Given the description of an element on the screen output the (x, y) to click on. 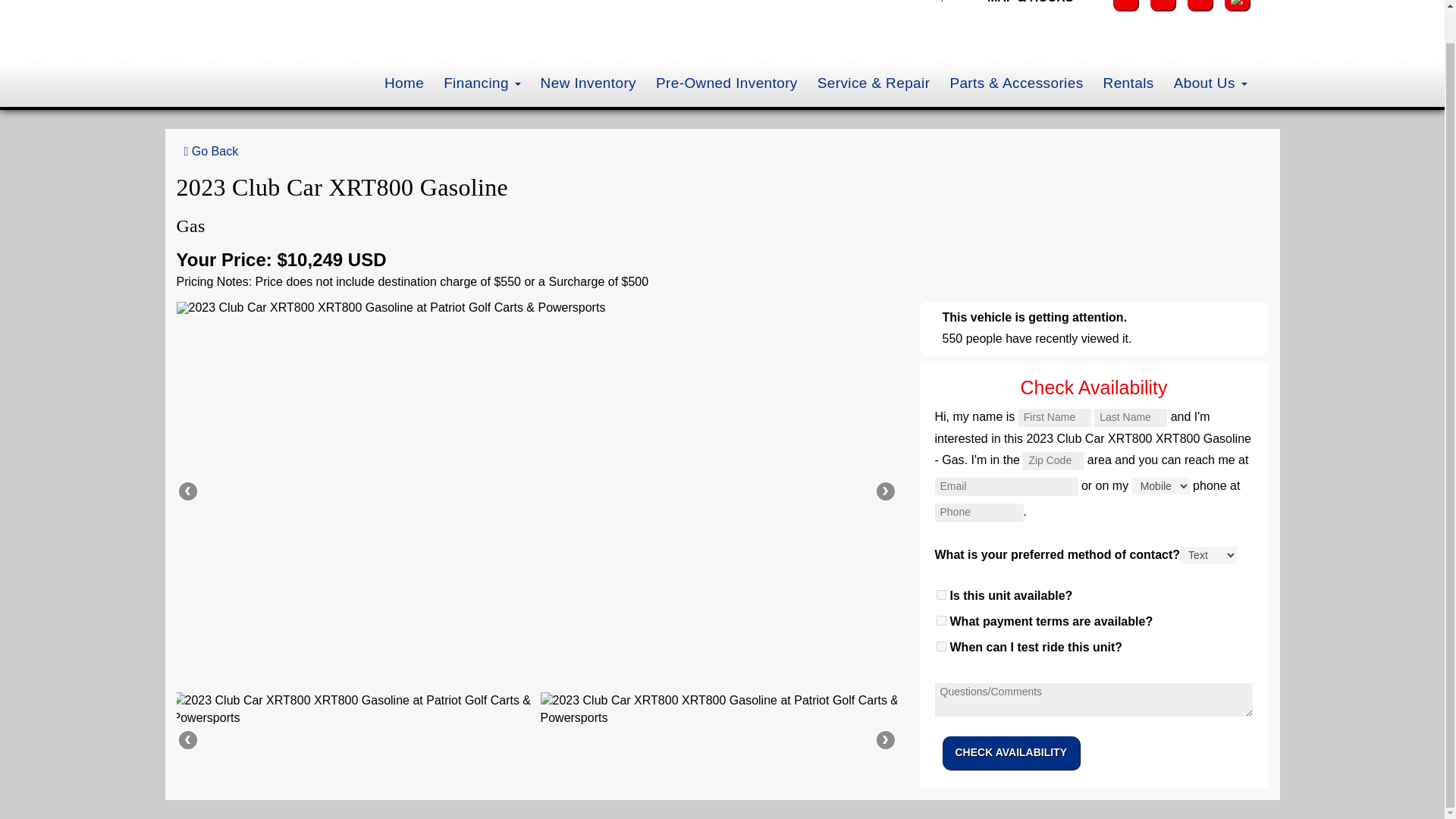
About Us (1210, 83)
true (940, 620)
Financing (481, 83)
true (940, 646)
true (940, 594)
About Us (1210, 83)
New Inventory (588, 83)
Financing (481, 83)
Pre-Owned Inventory (727, 83)
Pre-Owned Inventory (727, 83)
Rentals (1128, 83)
Home (403, 83)
,   (941, 3)
Rentals (1128, 83)
